Given the description of an element on the screen output the (x, y) to click on. 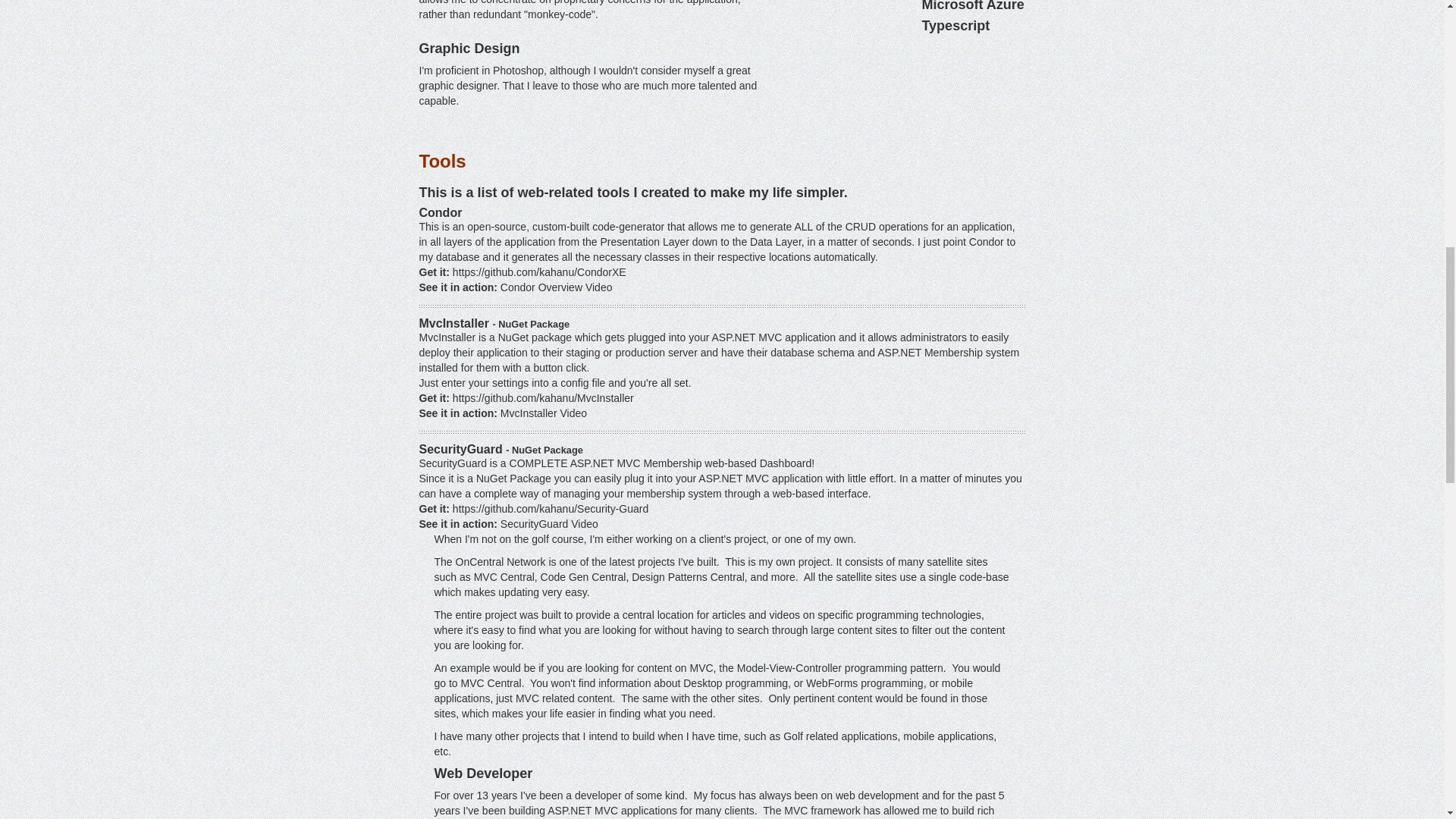
Code Gen Central (583, 576)
SecurityGuard Video (549, 523)
Design Patterns Central (687, 576)
MVC Central (504, 576)
MvcInstaller Video (543, 413)
Condor Overview Video (556, 287)
OnCentral Network (500, 562)
